Given the description of an element on the screen output the (x, y) to click on. 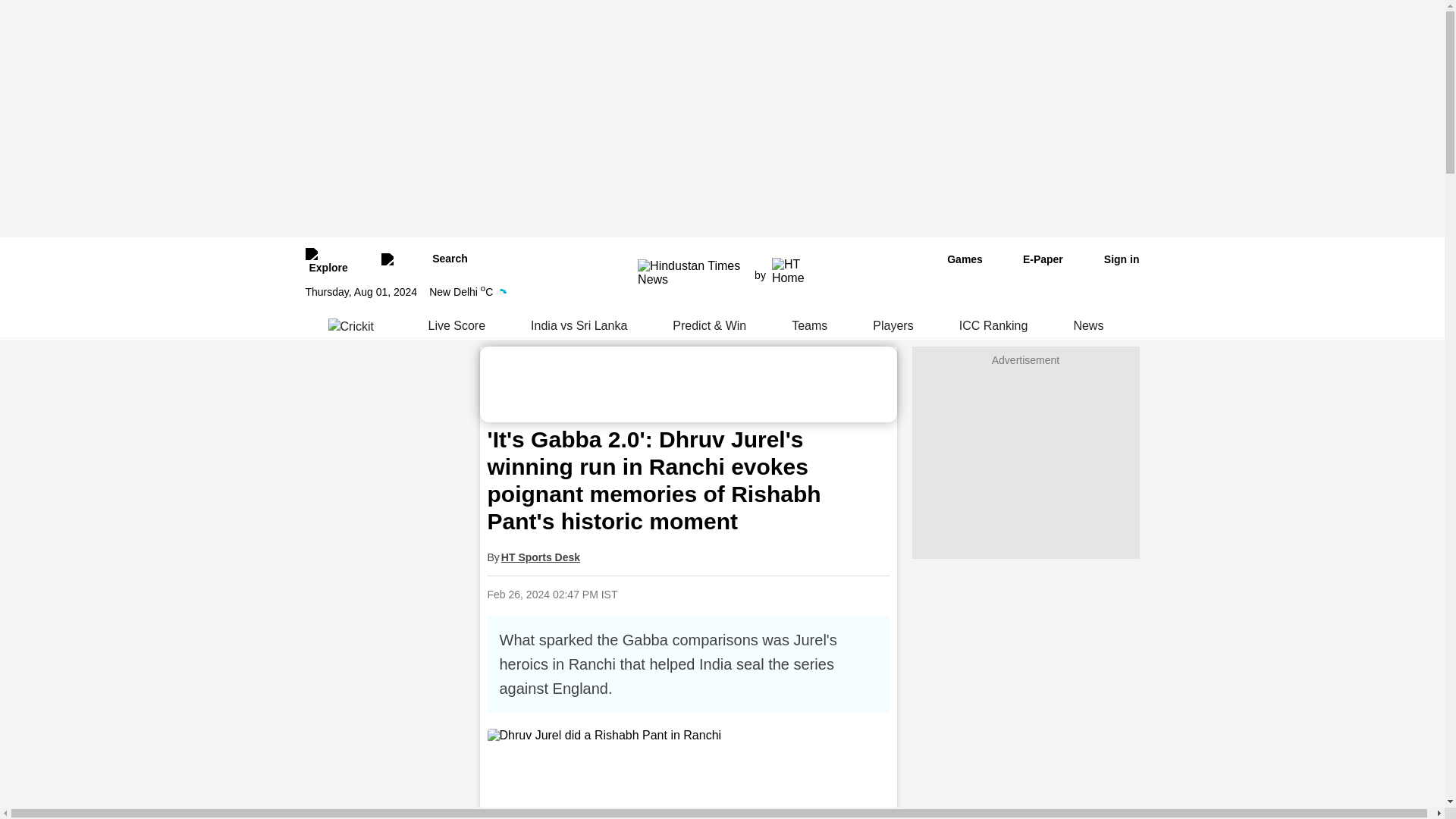
Search (423, 258)
ICC Ranking (993, 325)
HT Sports Desk (539, 557)
Dhruv Jurel did a Rishabh Pant in Ranchi (687, 735)
Share on Facebook (710, 593)
Crickit (354, 325)
game (954, 258)
Players (893, 325)
epaper (1034, 258)
E-Paper (1034, 258)
Share on Twitter (749, 593)
India vs Sri Lanka (578, 325)
News (1087, 325)
Games (954, 258)
Share on Linkdin (788, 593)
